Given the description of an element on the screen output the (x, y) to click on. 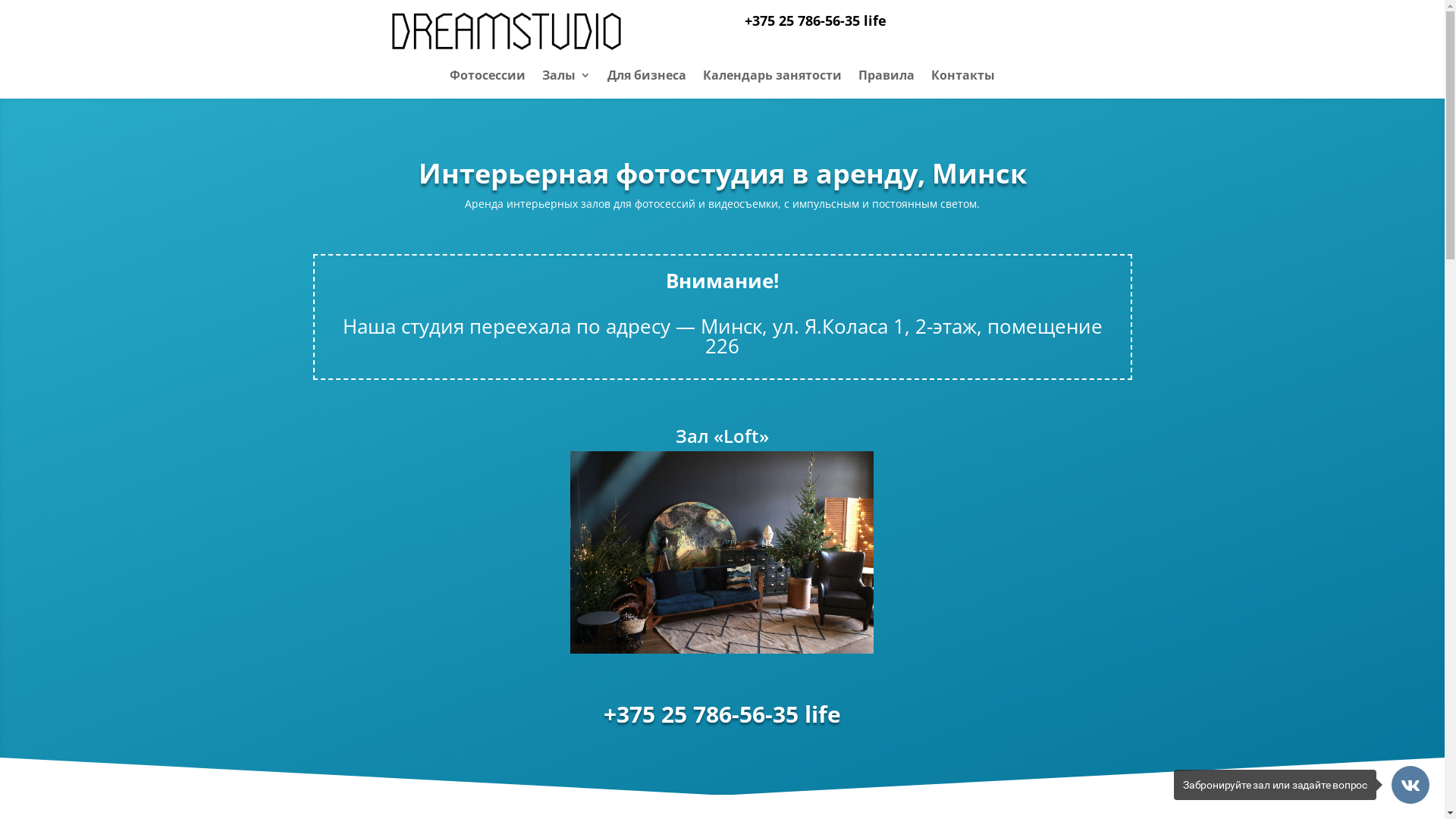
+375 25 786-56-35 life Element type: text (721, 713)
+375 25 786-56-35 life Element type: text (815, 20)
IMG_3583 Element type: hover (721, 552)
